Given the description of an element on the screen output the (x, y) to click on. 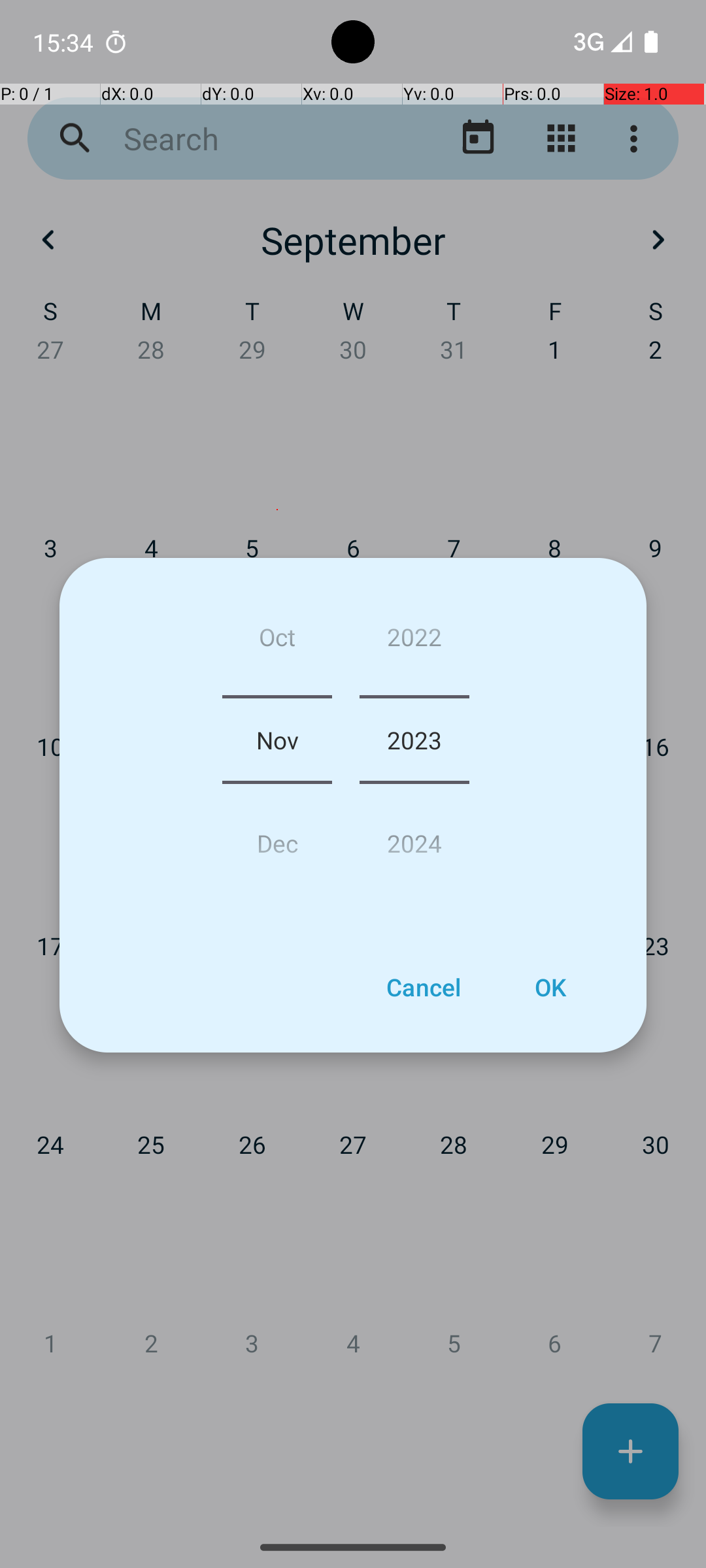
Dec Element type: android.widget.Button (277, 837)
